Given the description of an element on the screen output the (x, y) to click on. 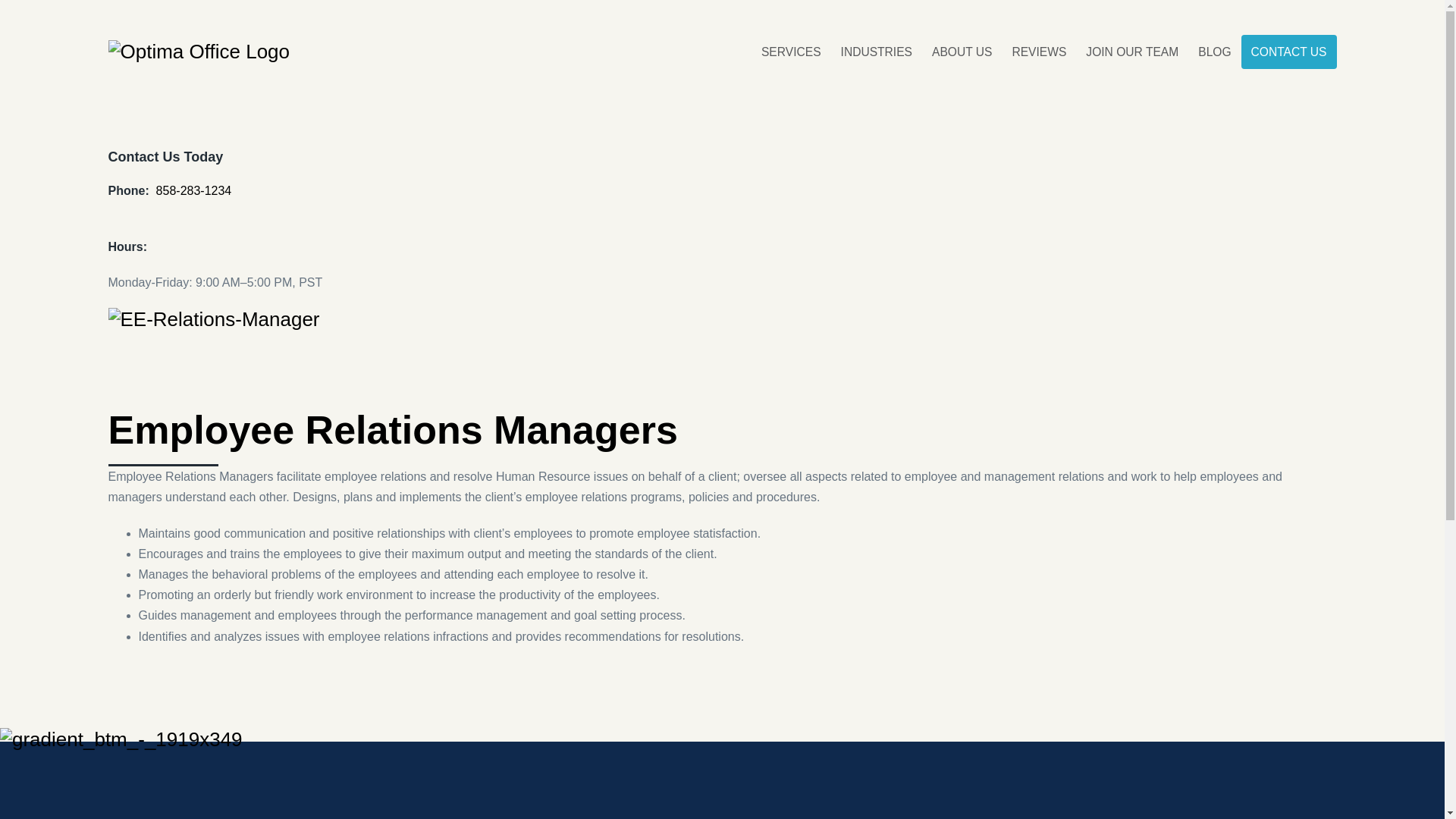
JOIN OUR TEAM (1131, 52)
CONTACT US (1288, 52)
SERVICES (791, 52)
BLOG (1214, 52)
858-283-1234 (193, 189)
ABOUT US (961, 52)
EE-Relations-Manager (212, 319)
REVIEWS (1038, 52)
INDUSTRIES (876, 52)
